Given the description of an element on the screen output the (x, y) to click on. 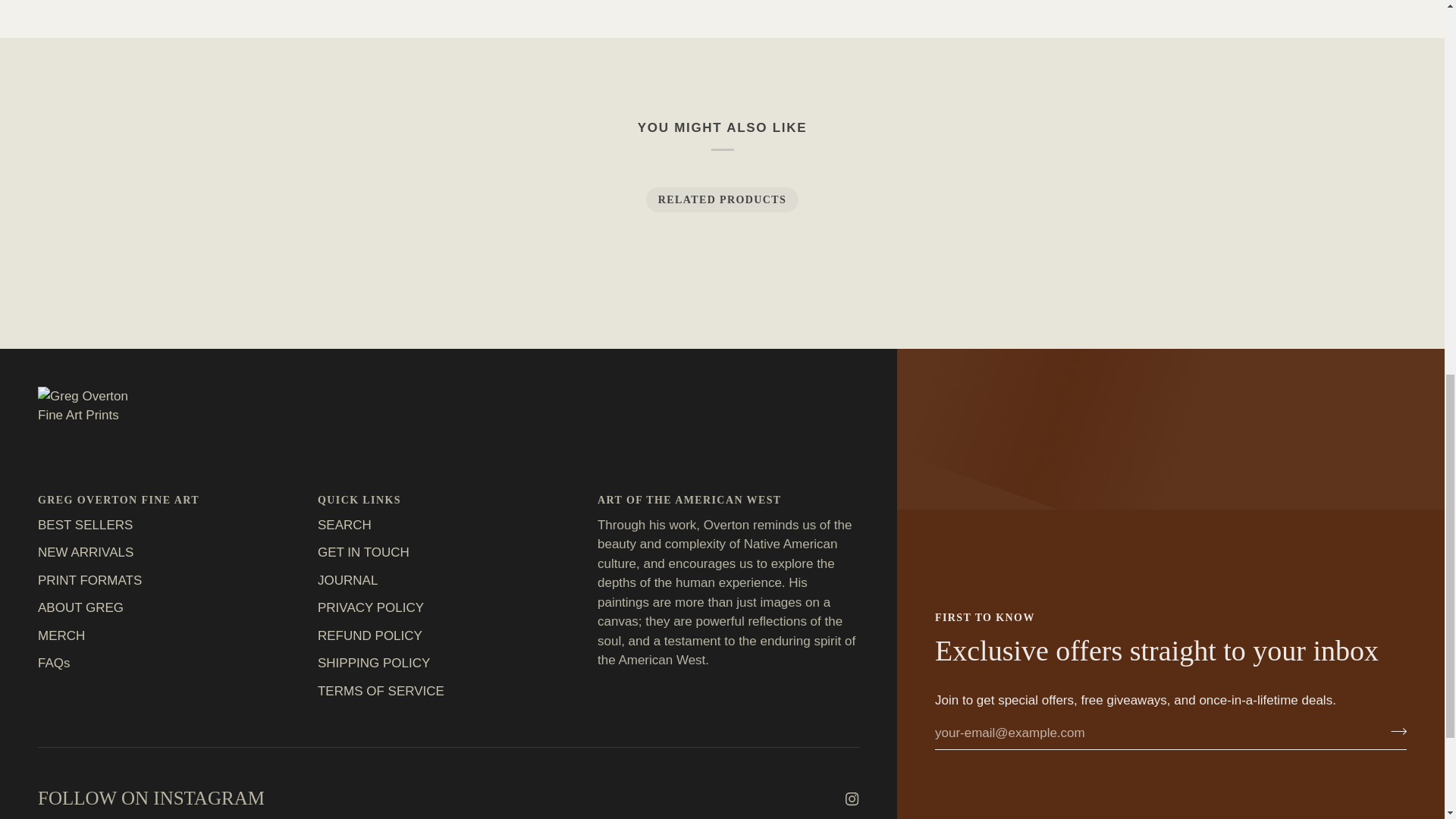
Instagram (852, 798)
RELATED PRODUCTS (722, 199)
